Given the description of an element on the screen output the (x, y) to click on. 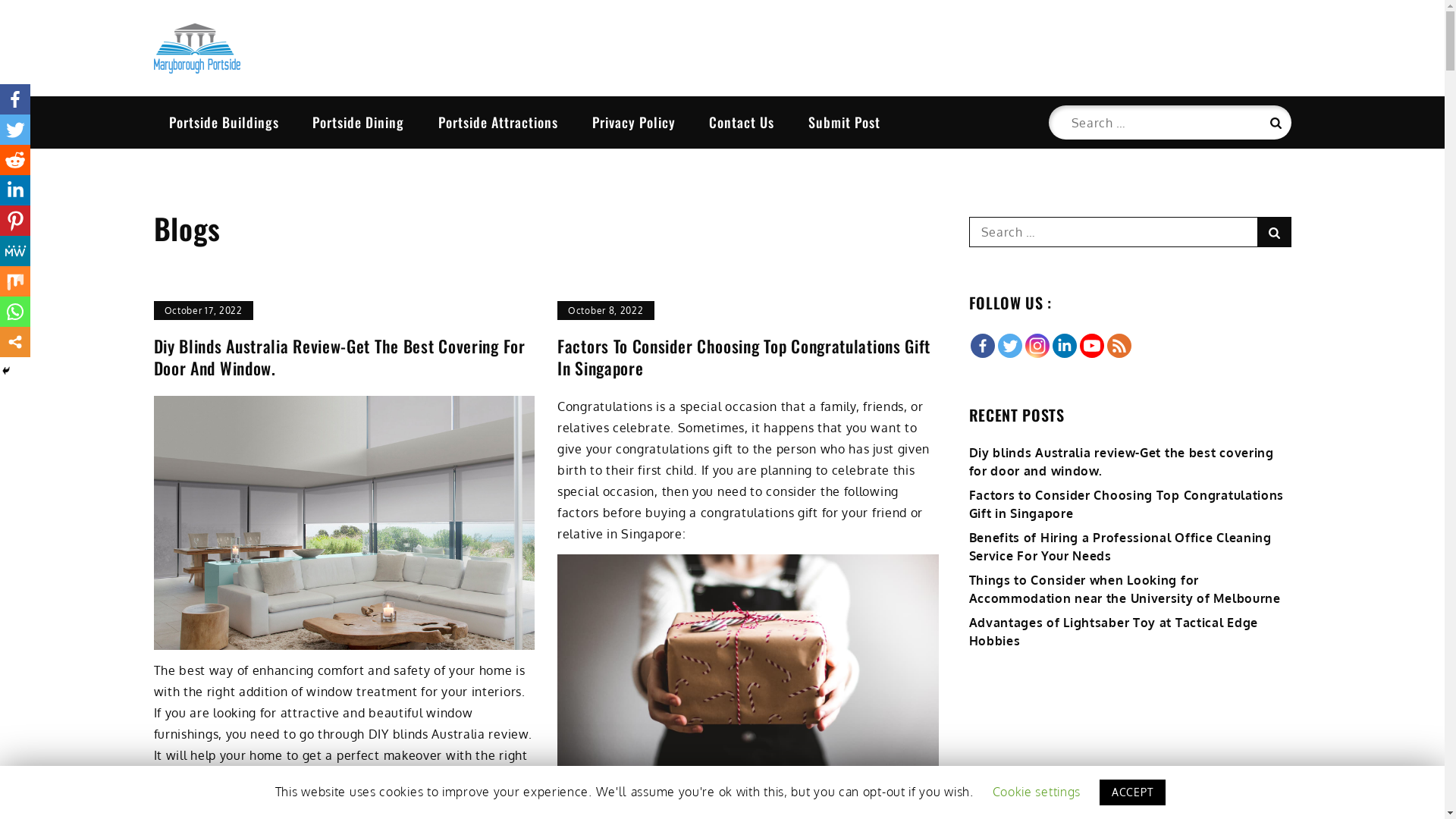
ACCEPT Element type: text (1132, 792)
Reddit Element type: hover (15, 159)
Search Element type: text (1274, 231)
Mix Element type: hover (15, 281)
More Element type: hover (15, 341)
Cookie settings Element type: text (1035, 791)
Facebook Element type: hover (15, 99)
Twitter Element type: hover (15, 129)
Contact Us Element type: text (741, 121)
Instagram Element type: hover (1037, 345)
Privacy Policy Element type: text (633, 121)
Linkedin Element type: hover (1064, 345)
October 17, 2022 Element type: text (202, 310)
Pinterest Element type: hover (15, 220)
Hide Element type: hover (6, 370)
Portside Dining Element type: text (358, 121)
Portside Buildings Element type: text (223, 121)
MeWe Element type: hover (15, 250)
RSS Feed Element type: hover (1119, 345)
Search Element type: text (1274, 122)
Skip to content Element type: text (0, 0)
Linkedin Element type: hover (15, 190)
Maryborough Portside Element type: text (313, 96)
Whatsapp Element type: hover (15, 311)
Facebook Element type: hover (982, 345)
October 8, 2022 Element type: text (605, 310)
Submit Post Element type: text (844, 121)
Portside Attractions Element type: text (498, 121)
Advantages of Lightsaber Toy at Tactical Edge Hobbies Element type: text (1113, 631)
Youtube Element type: hover (1091, 345)
Twitter Element type: hover (1009, 345)
